Given the description of an element on the screen output the (x, y) to click on. 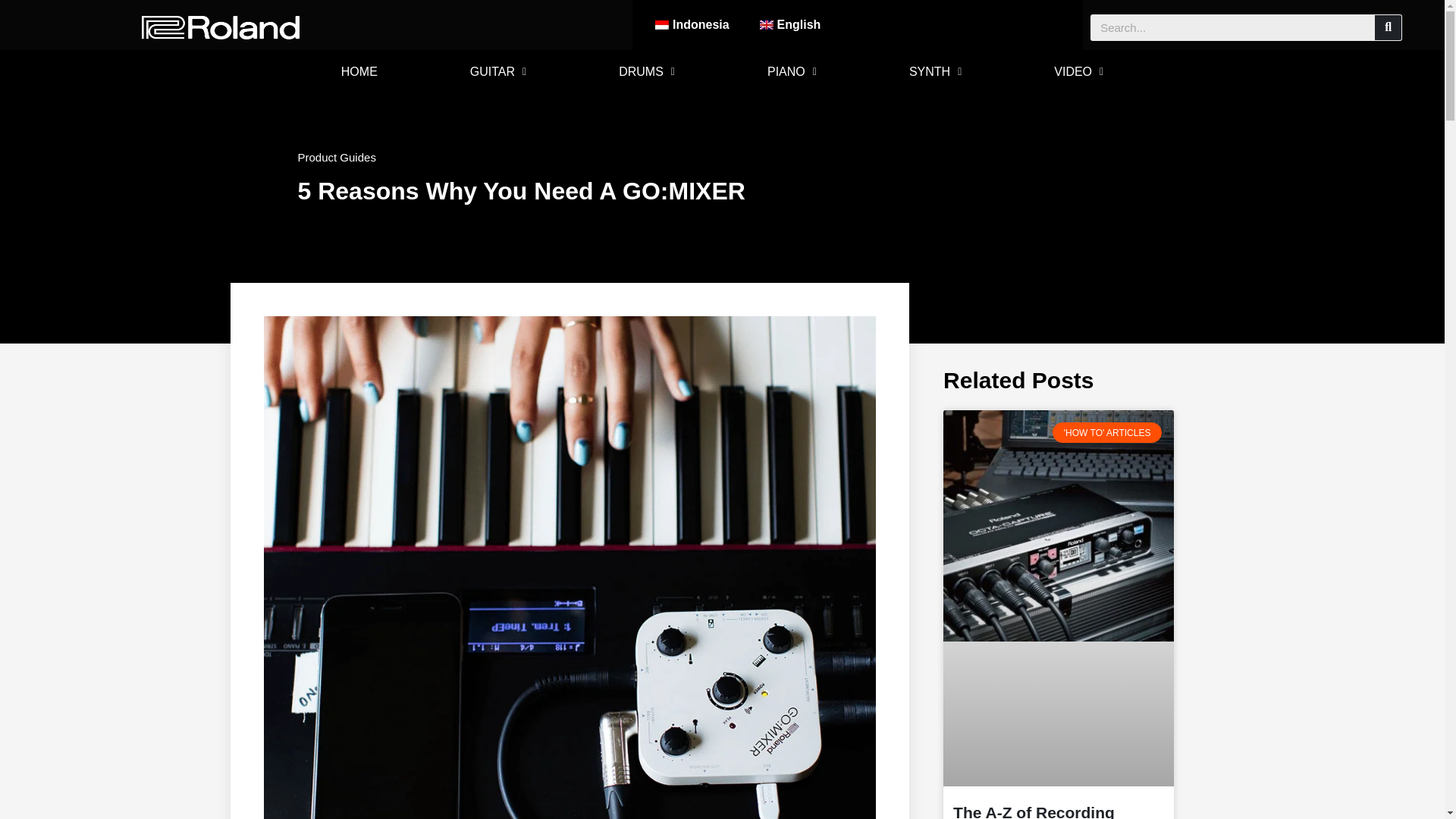
DRUMS (646, 71)
English (789, 24)
HOME (359, 71)
GUITAR (497, 71)
Search (1387, 27)
Indonesia (692, 24)
English (789, 24)
Indonesia (692, 24)
